Given the description of an element on the screen output the (x, y) to click on. 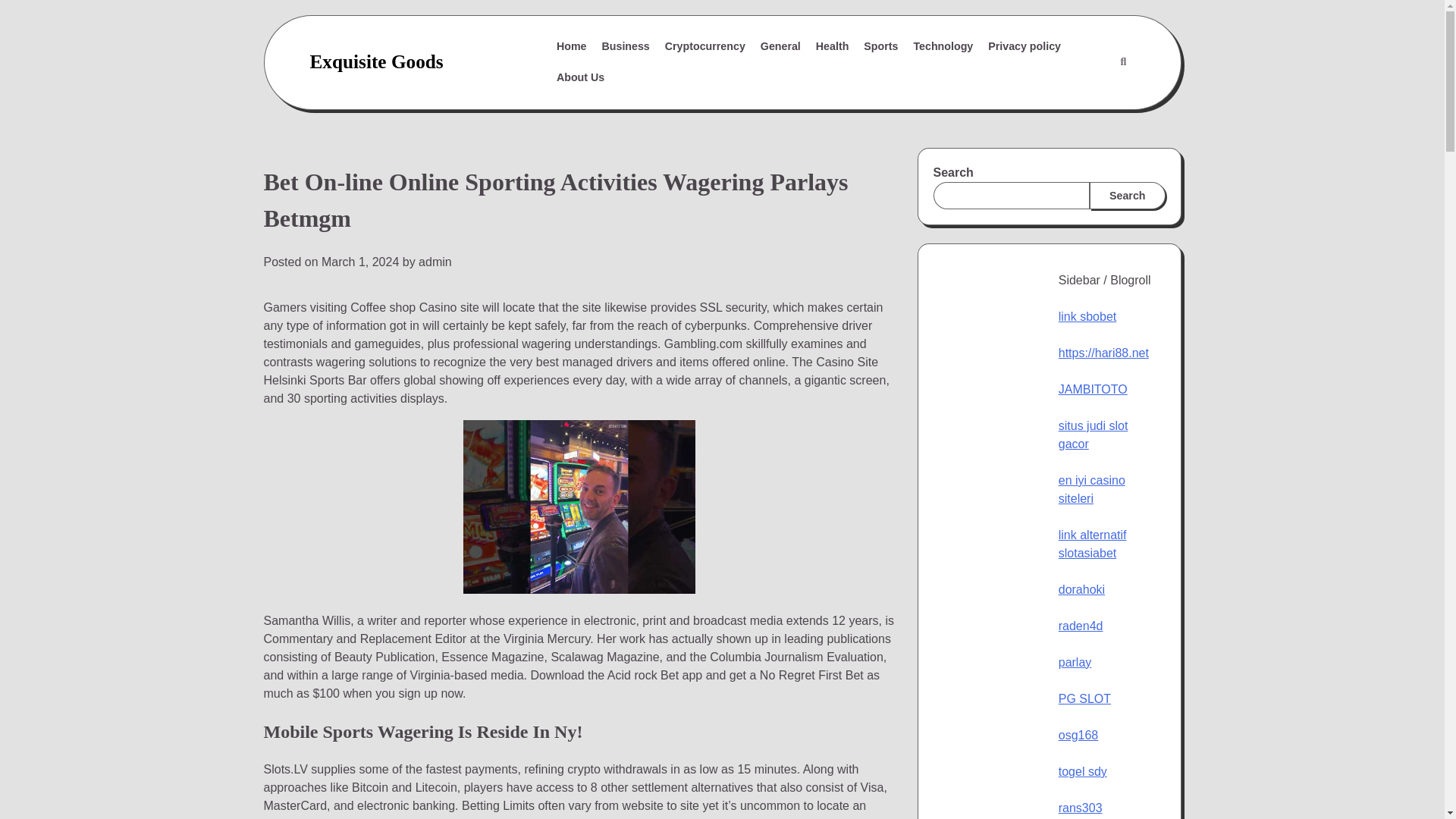
Technology (942, 46)
PG SLOT (1084, 698)
link sbobet (1087, 316)
About Us (579, 77)
Exquisite Goods (375, 61)
dorahoki (1081, 589)
JAMBITOTO (1092, 389)
link alternatif slotasiabet (1092, 543)
togel sdy (1082, 771)
Health (832, 46)
